Given the description of an element on the screen output the (x, y) to click on. 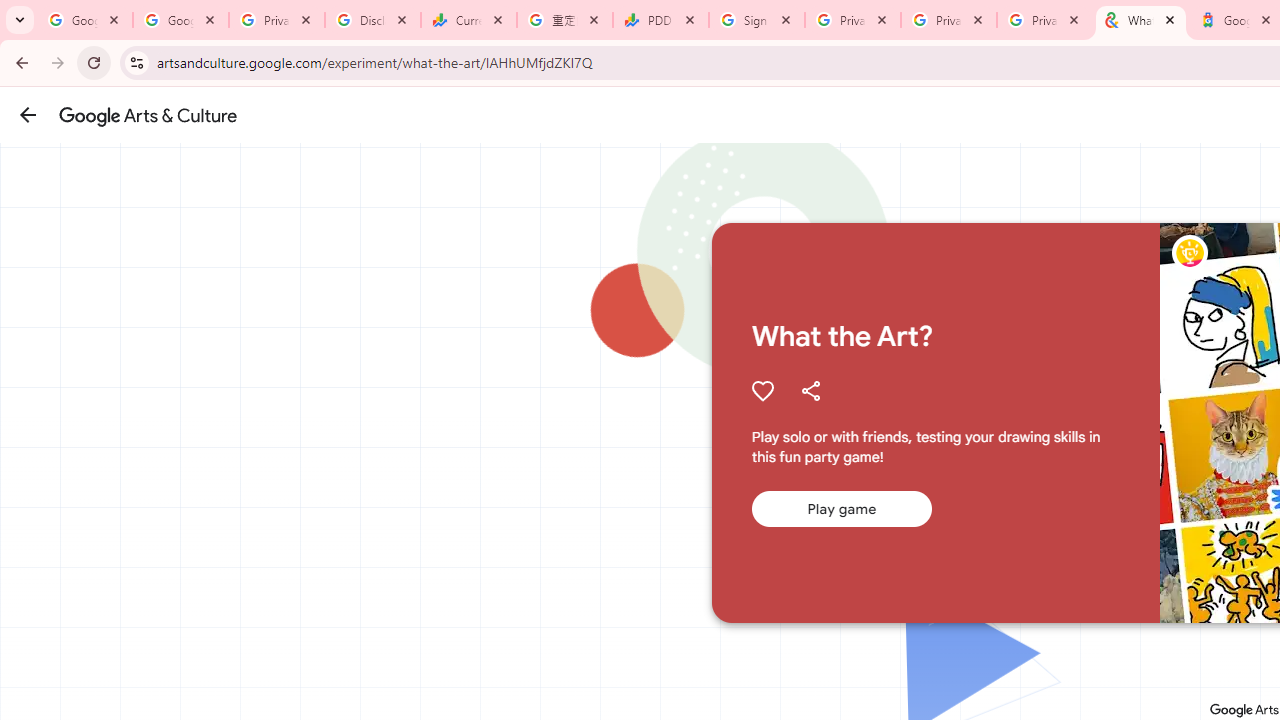
Sign in - Google Accounts (757, 20)
Play game (841, 509)
Currencies - Google Finance (469, 20)
Privacy Checkup (949, 20)
Google Arts & Culture (148, 115)
